Given the description of an element on the screen output the (x, y) to click on. 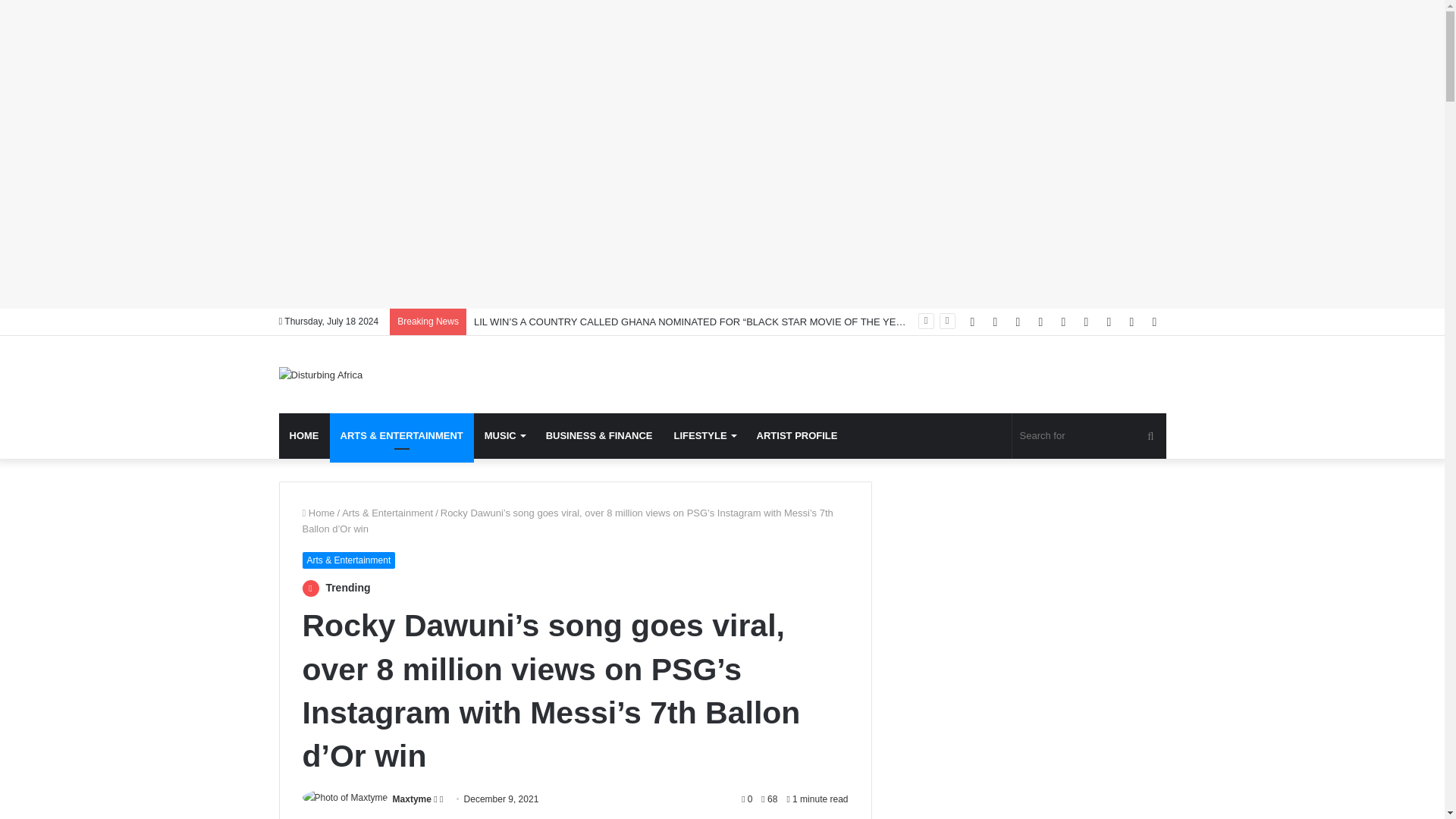
Maxtyme (411, 798)
Instagram (1063, 321)
Twitter (995, 321)
HOME (304, 435)
Random Article (1131, 321)
Facebook (972, 321)
Sidebar (1154, 321)
Follow on Twitter (436, 798)
ARTIST PROFILE (796, 435)
Search for (1150, 435)
Log In (1109, 321)
Home (317, 512)
Advertisement (455, 260)
